Given the description of an element on the screen output the (x, y) to click on. 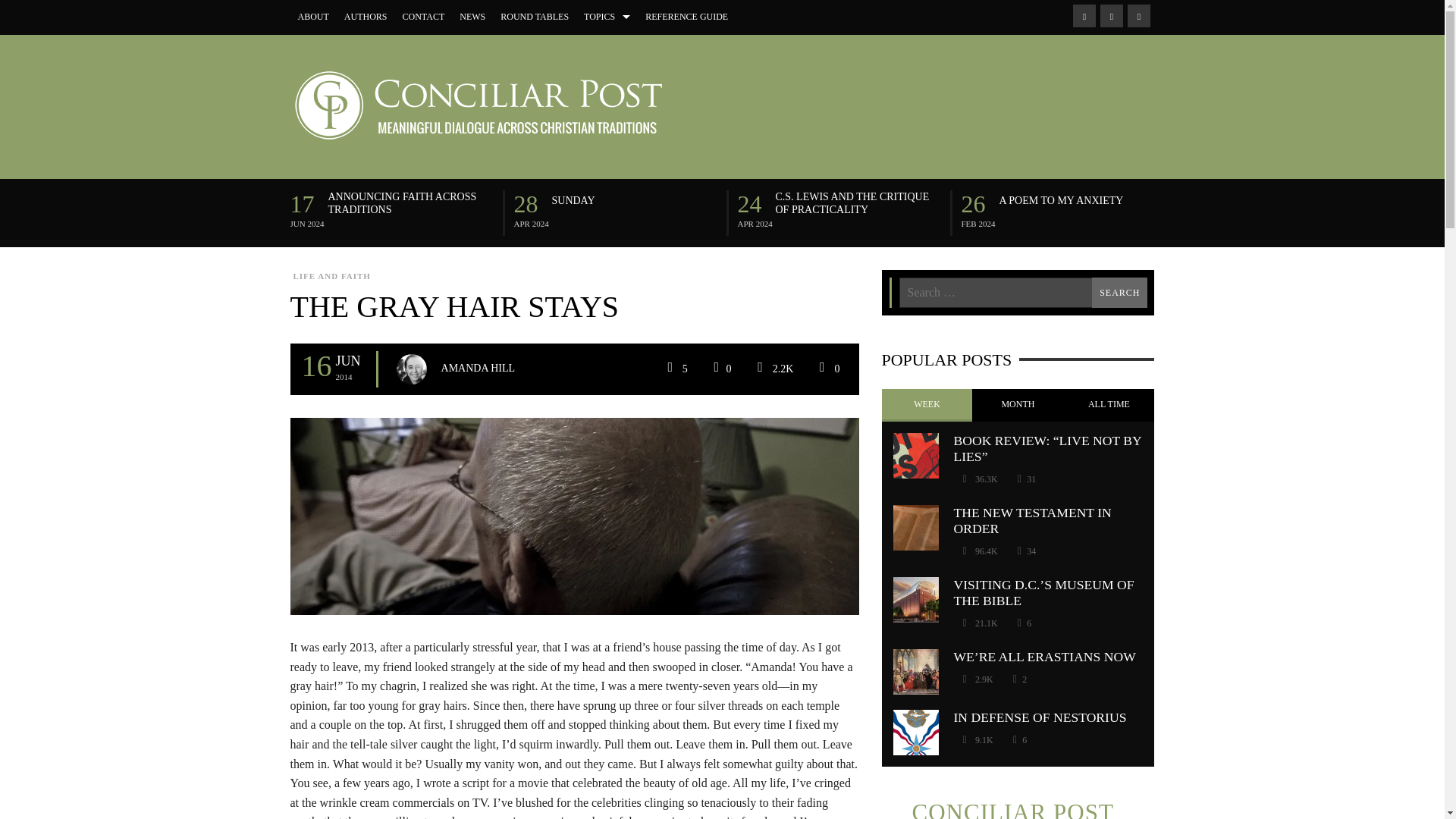
Instagram (1110, 15)
Permalink to The New Testament in Order (1032, 520)
The Gray Hair Stays (574, 514)
Search (1119, 292)
View all posts in Life and Faith (330, 276)
View all posts by Amanda Hill (411, 368)
View all posts by Amanda Hill (478, 368)
I like this (1026, 478)
Facebook (1082, 15)
I like this (720, 369)
Search (1119, 292)
Twitter (1138, 15)
